Given the description of an element on the screen output the (x, y) to click on. 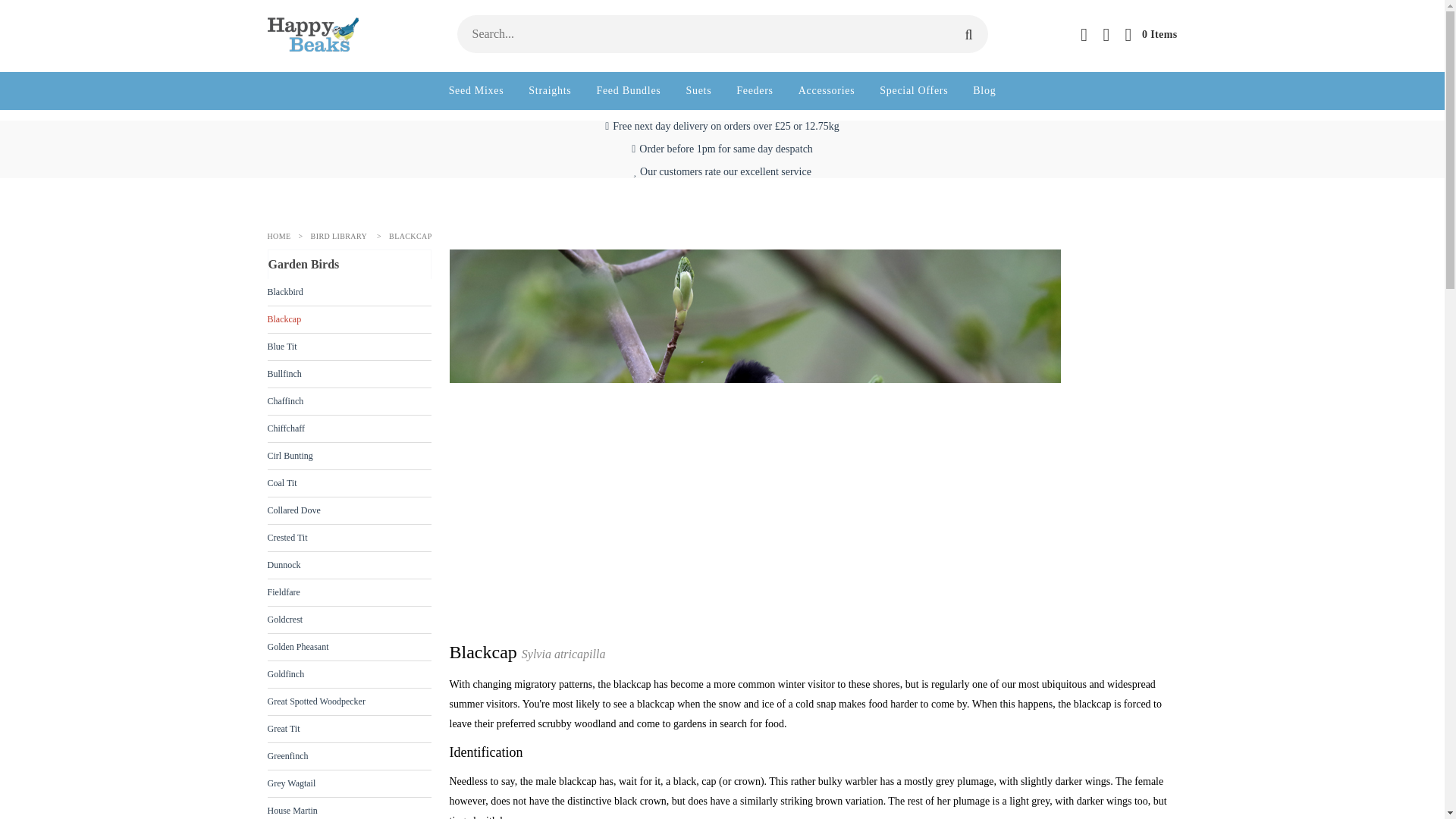
Feeders (754, 90)
Straights (549, 90)
Accessories (826, 90)
Feed Bundles (628, 90)
Suets (698, 90)
Seed Mixes (476, 90)
